Given the description of an element on the screen output the (x, y) to click on. 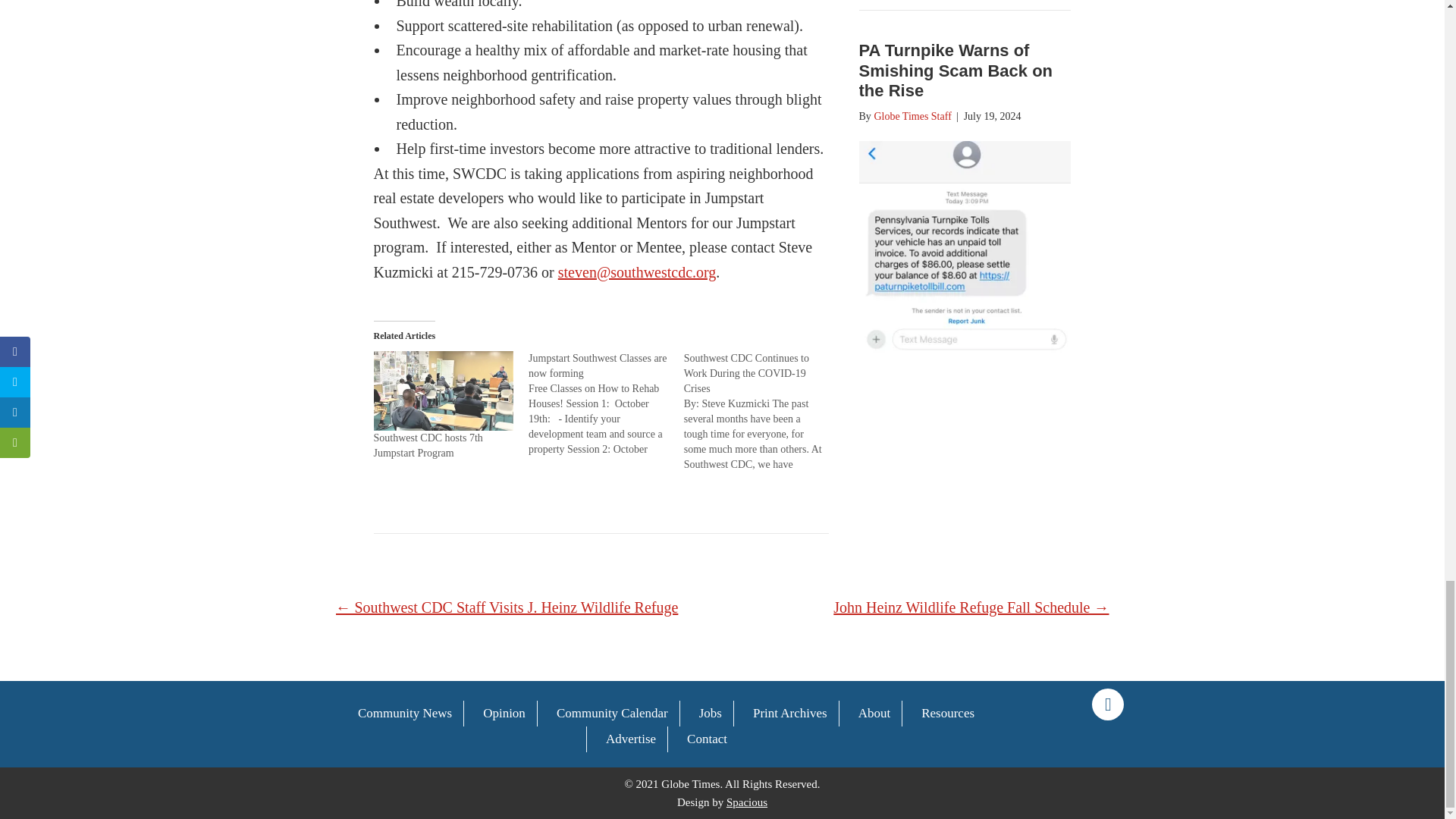
PA Turnpike Warns of Smishing Scam Back on the Rise (955, 69)
PA Turnpike Warns of Smishing Scam Back on the Rise (955, 69)
Community News (404, 713)
Community Calendar (611, 713)
Southwest CDC hosts 7th Jumpstart Program (426, 445)
Jumpstart Southwest Classes are now forming (597, 365)
Southwest CDC hosts 7th Jumpstart Program (442, 390)
Southwest CDC Continues to Work During the COVID-19 Crises (746, 372)
Jumpstart Southwest Classes are now forming (597, 365)
Southwest CDC Continues to Work During the COVID-19 Crises (746, 372)
Opinion (504, 713)
Southwest CDC hosts 7th Jumpstart Program (426, 445)
Globe Times Staff (911, 116)
Jumpstart Southwest Classes are now forming (606, 404)
Southwest CDC Continues to Work During the COVID-19 Crises (762, 411)
